Given the description of an element on the screen output the (x, y) to click on. 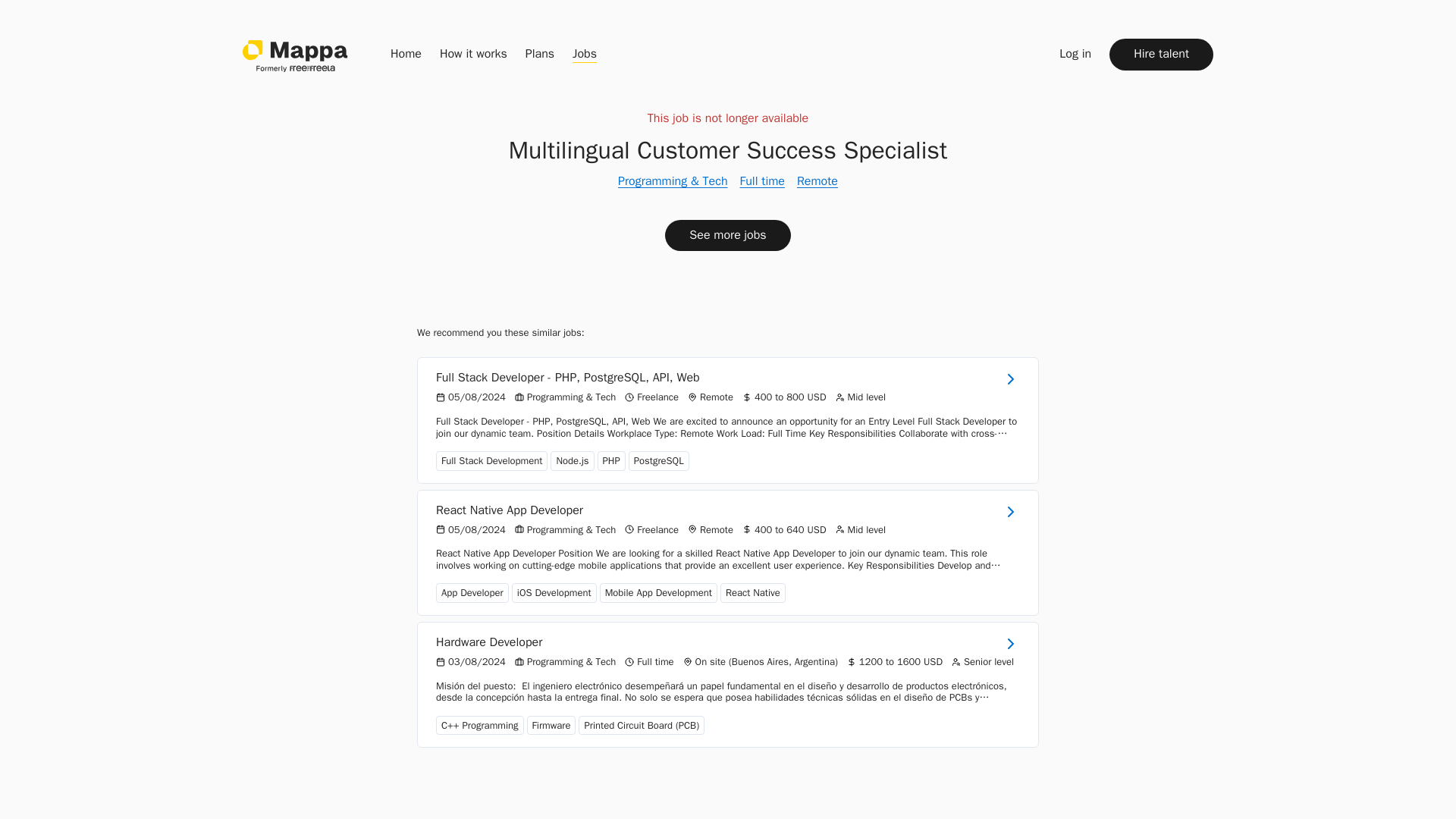
Jobs (584, 53)
Home (406, 53)
Log in (1074, 53)
See more jobs (727, 235)
Full time (761, 181)
Hire talent (1160, 53)
Remote (817, 181)
Plans (539, 53)
How it works (472, 53)
